Given the description of an element on the screen output the (x, y) to click on. 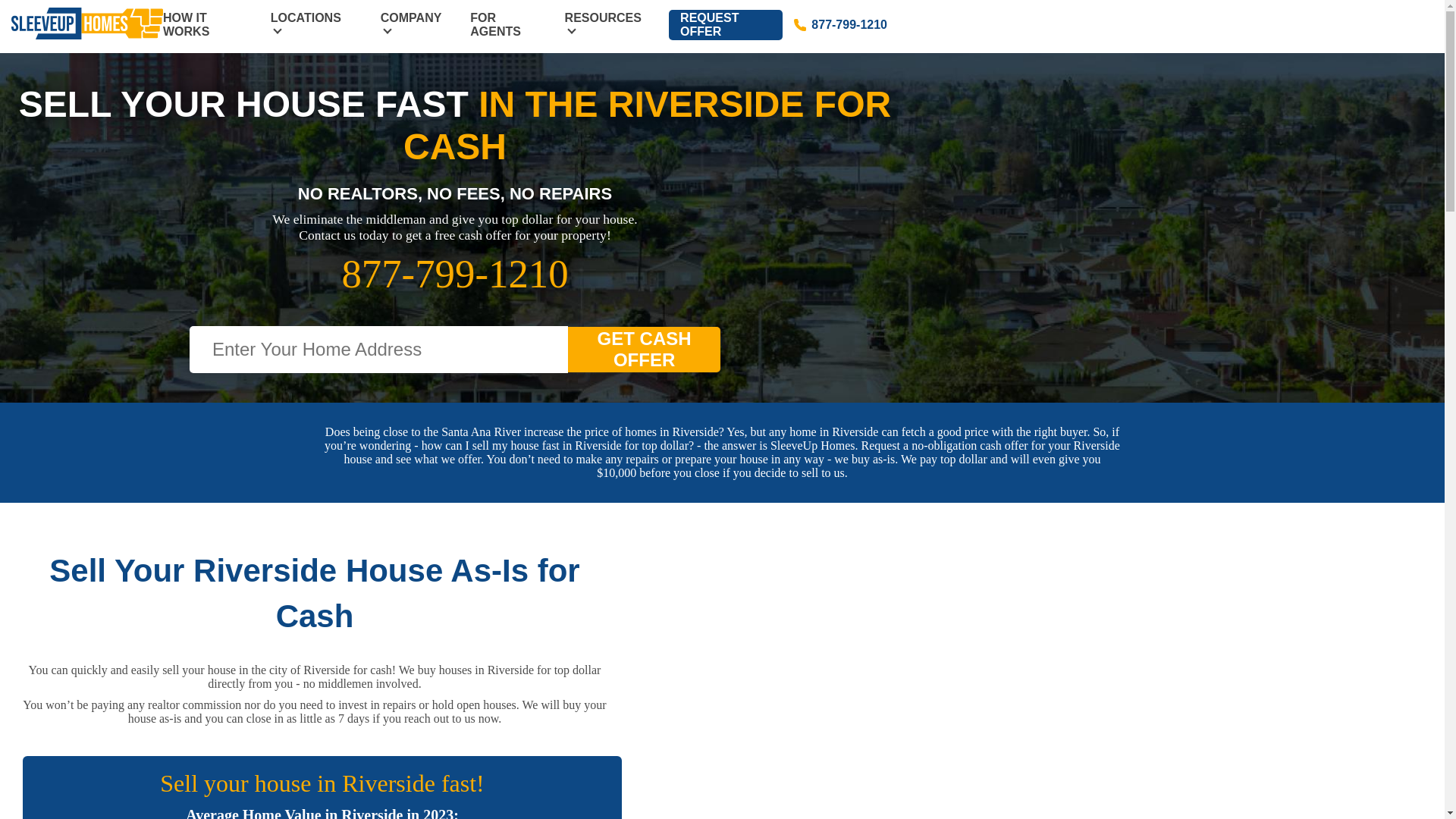
HOW IT WORKS (186, 24)
LOCATIONS (305, 24)
